Given the description of an element on the screen output the (x, y) to click on. 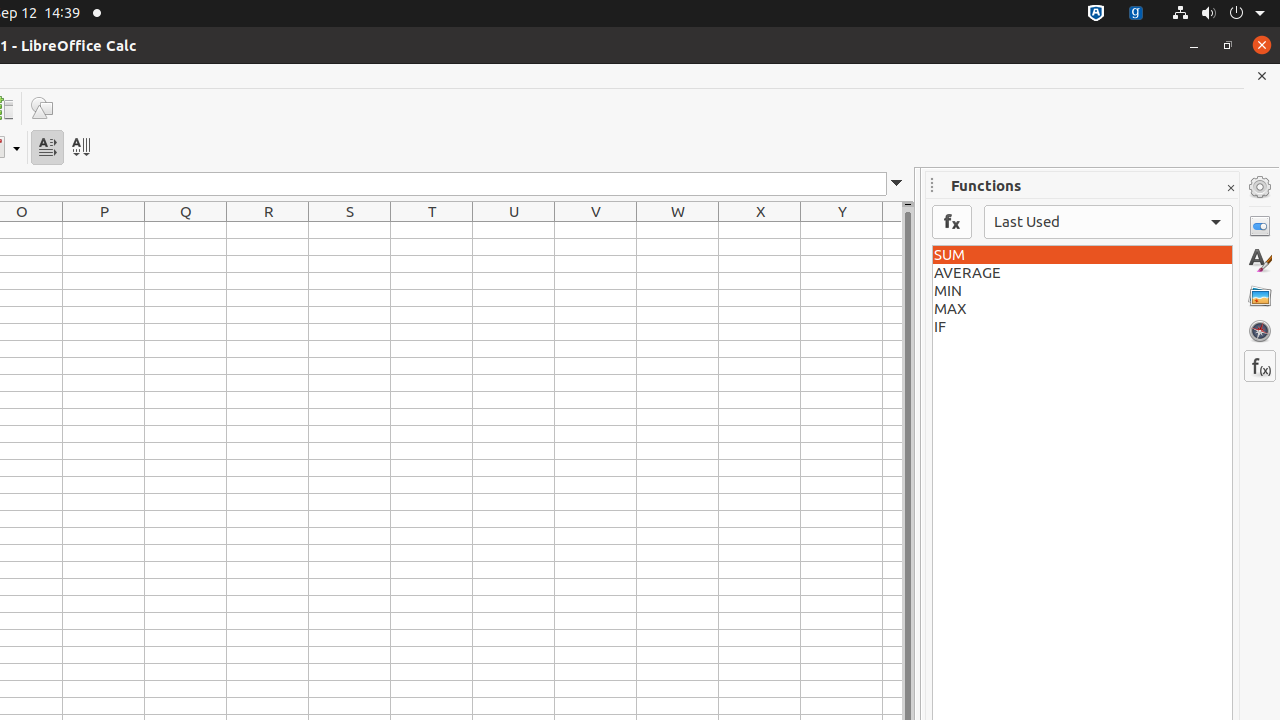
Gallery Element type: radio-button (1260, 296)
Q1 Element type: table-cell (186, 230)
Text direction from left to right Element type: toggle-button (47, 147)
System Element type: menu (1218, 13)
MAX Element type: list-item (1082, 309)
